Given the description of an element on the screen output the (x, y) to click on. 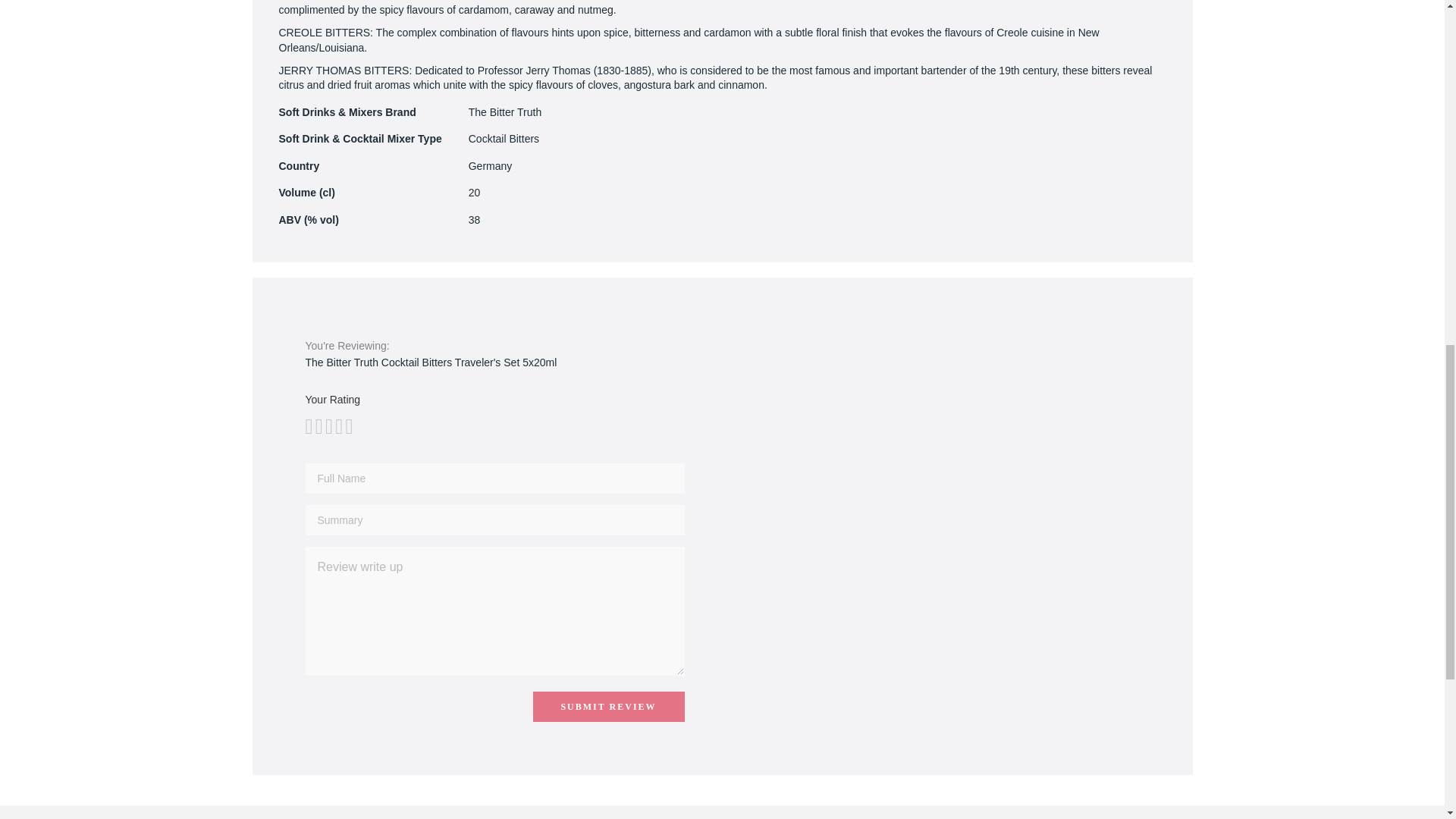
5 stars (328, 426)
4 stars (323, 426)
3 stars (318, 426)
